Given the description of an element on the screen output the (x, y) to click on. 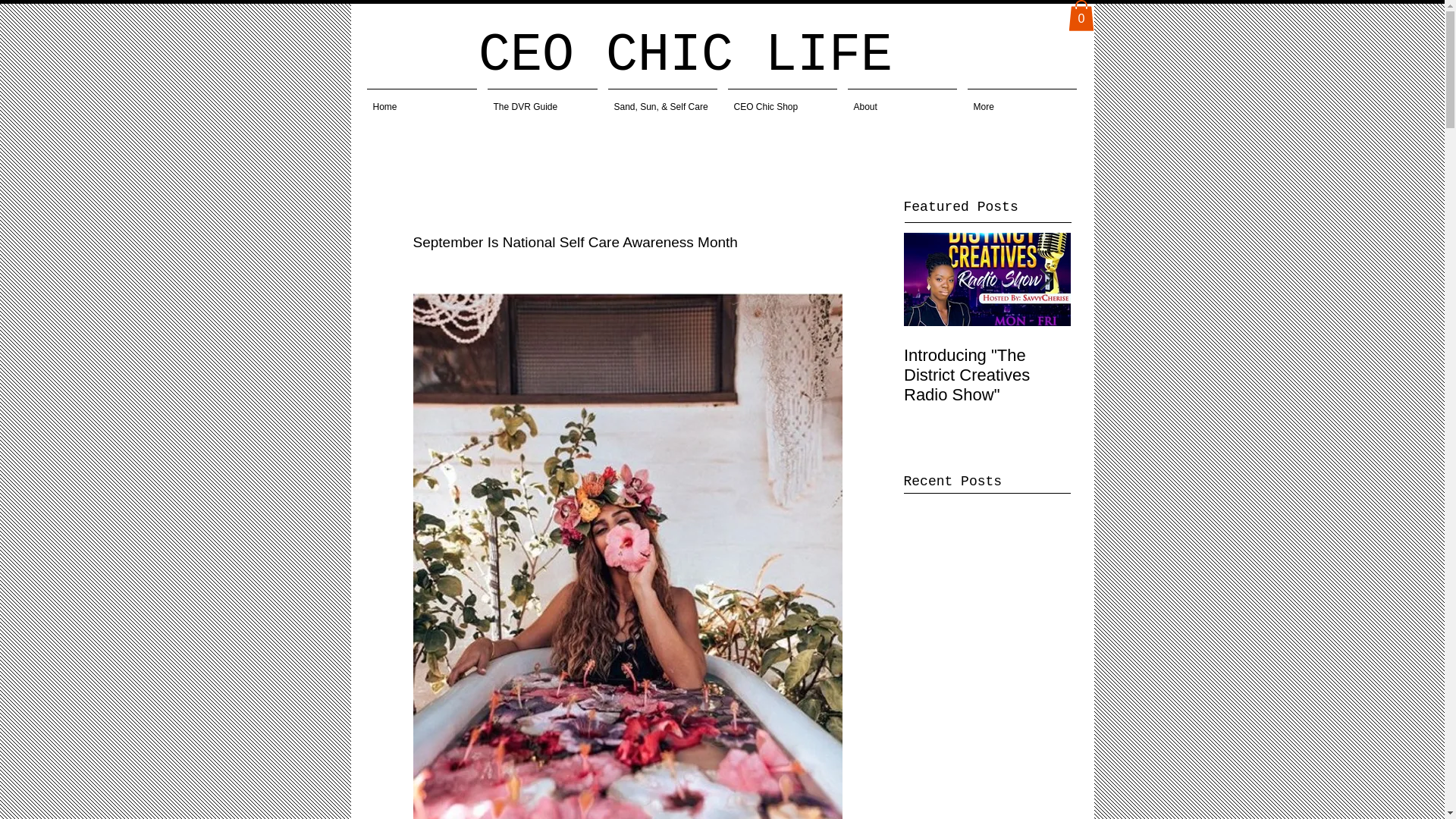
Home (421, 99)
Introducing "The District Creatives Radio Show" (987, 374)
The DVR Guide (541, 99)
Balancing Your Dream and Your Job (1116, 282)
About (900, 99)
CEO Chic Shop (781, 99)
